Given the description of an element on the screen output the (x, y) to click on. 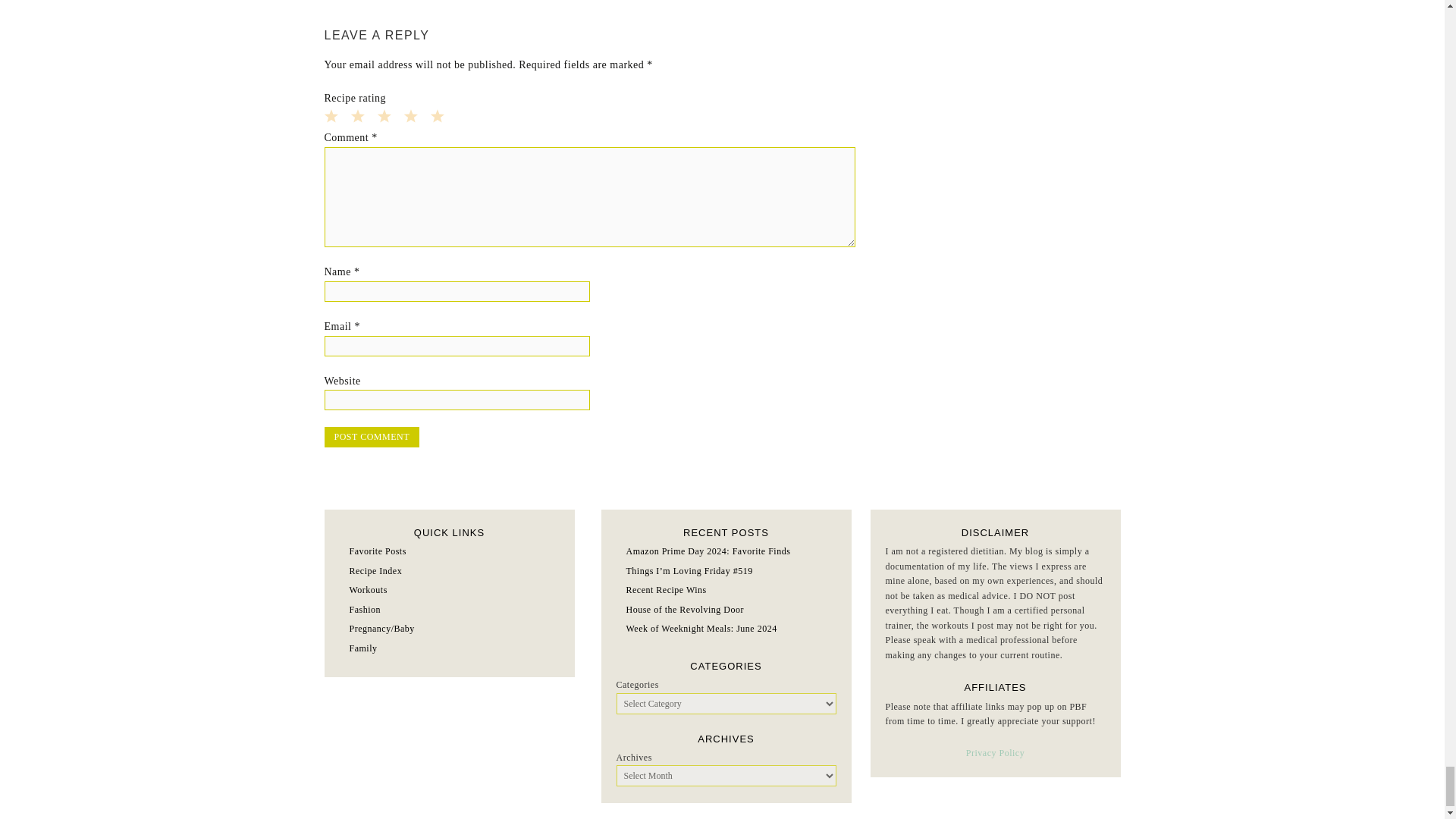
Post Comment (371, 436)
